Given the description of an element on the screen output the (x, y) to click on. 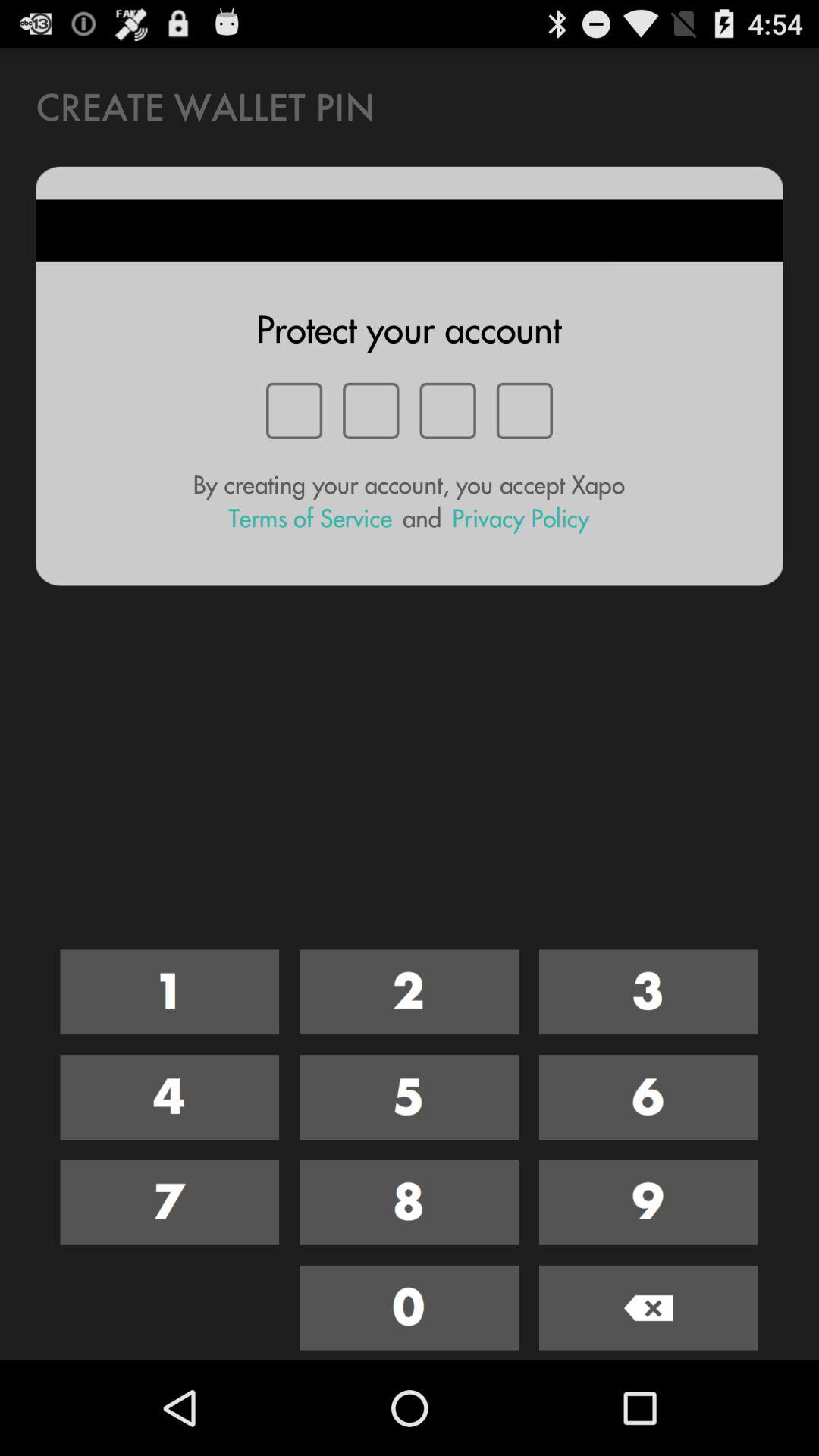
launch icon below the by creating your item (520, 518)
